Given the description of an element on the screen output the (x, y) to click on. 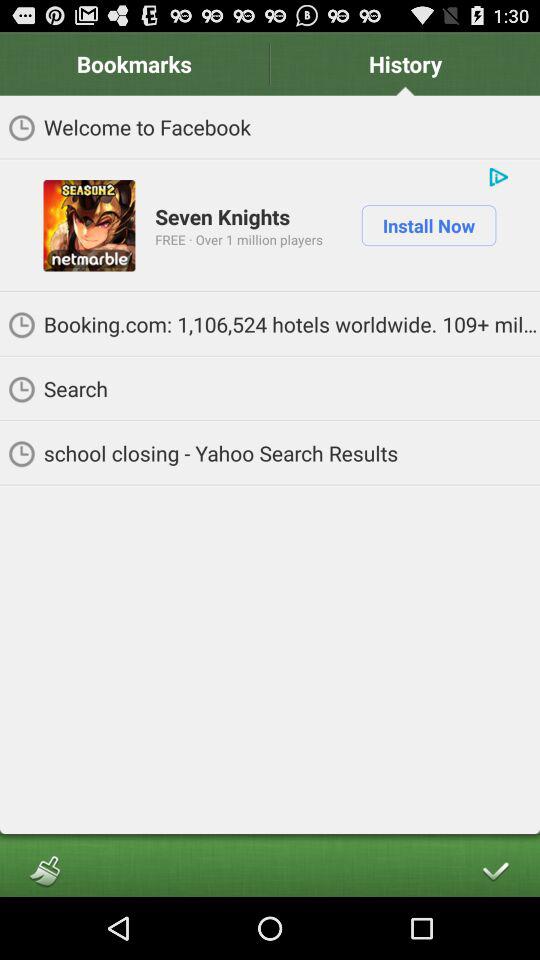
tap app below school closing yahoo icon (494, 870)
